Given the description of an element on the screen output the (x, y) to click on. 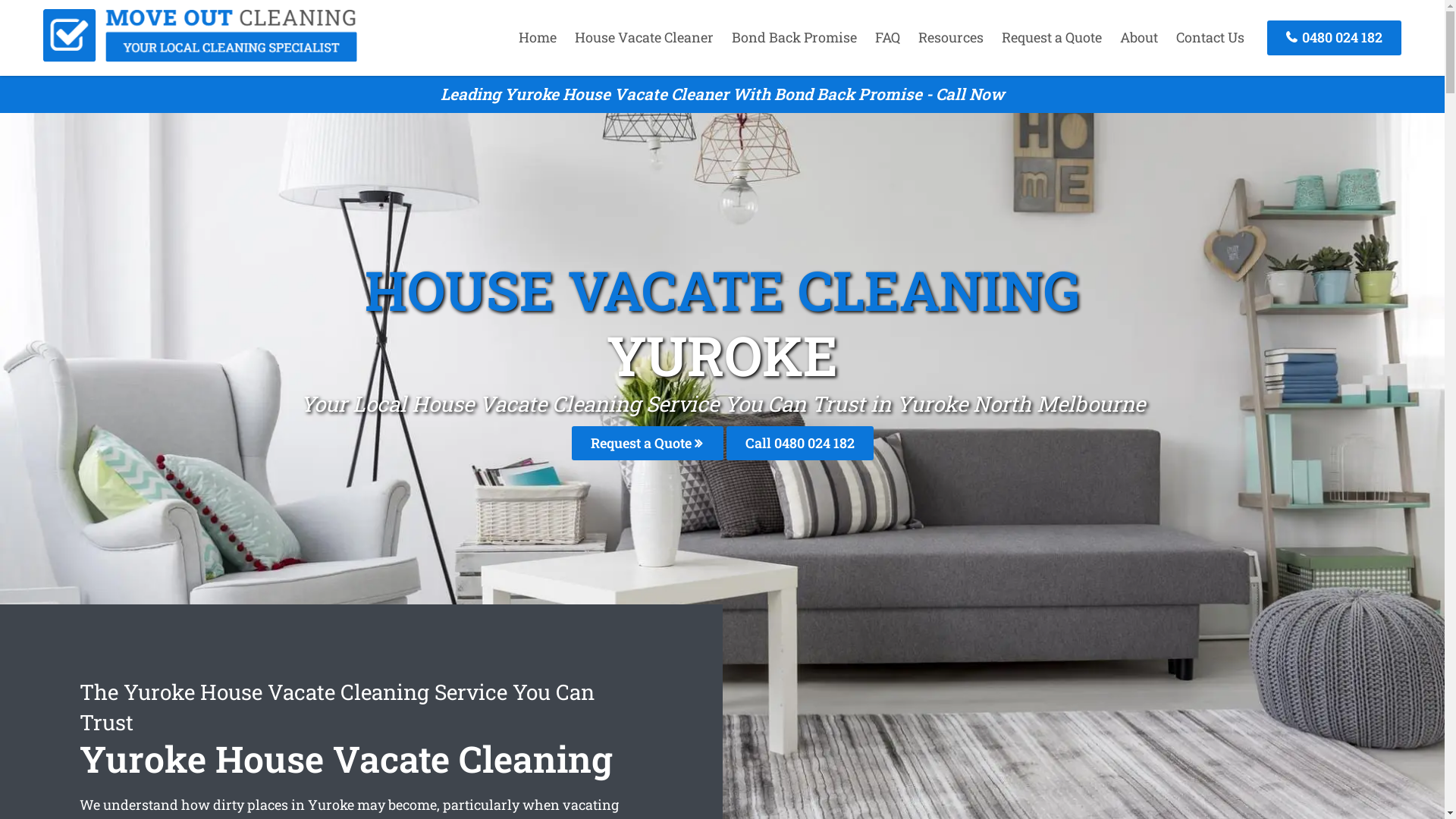
FAQ Element type: text (887, 37)
Resources Element type: text (950, 37)
Call 0480 024 182 Element type: text (799, 443)
Bond Back Promise Element type: text (794, 37)
End of Lease Cleaning Element type: hover (200, 56)
About Element type: text (1138, 37)
House Vacate Cleaner Element type: text (644, 37)
0480 024 182 Element type: text (1334, 37)
Request a Quote Element type: text (647, 443)
Contact Us Element type: text (1210, 37)
Home Element type: text (537, 37)
Request a Quote Element type: text (1051, 37)
